Given the description of an element on the screen output the (x, y) to click on. 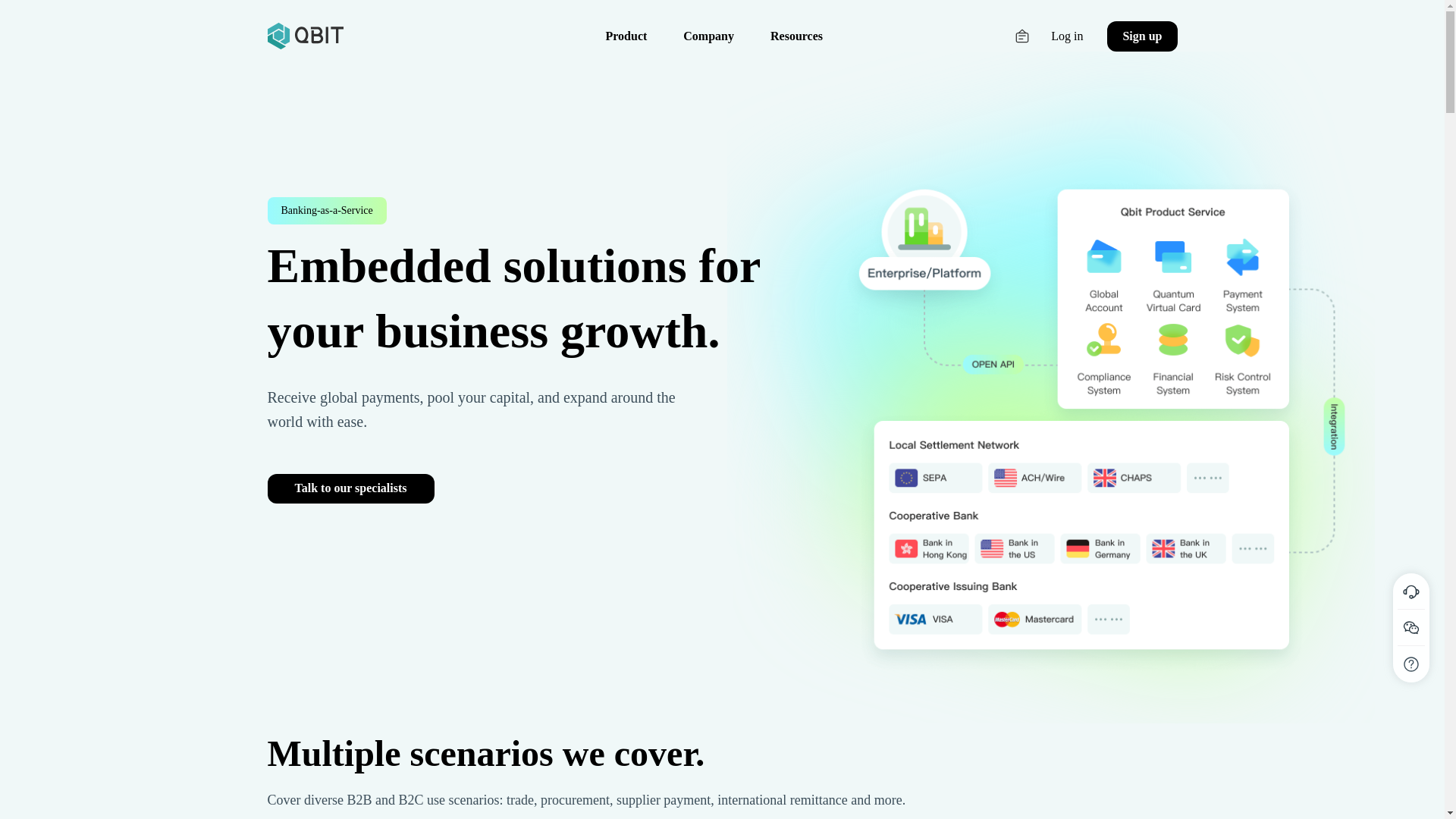
Sign up (1141, 36)
Talk to our specialists (349, 488)
Log in (1067, 36)
